Given the description of an element on the screen output the (x, y) to click on. 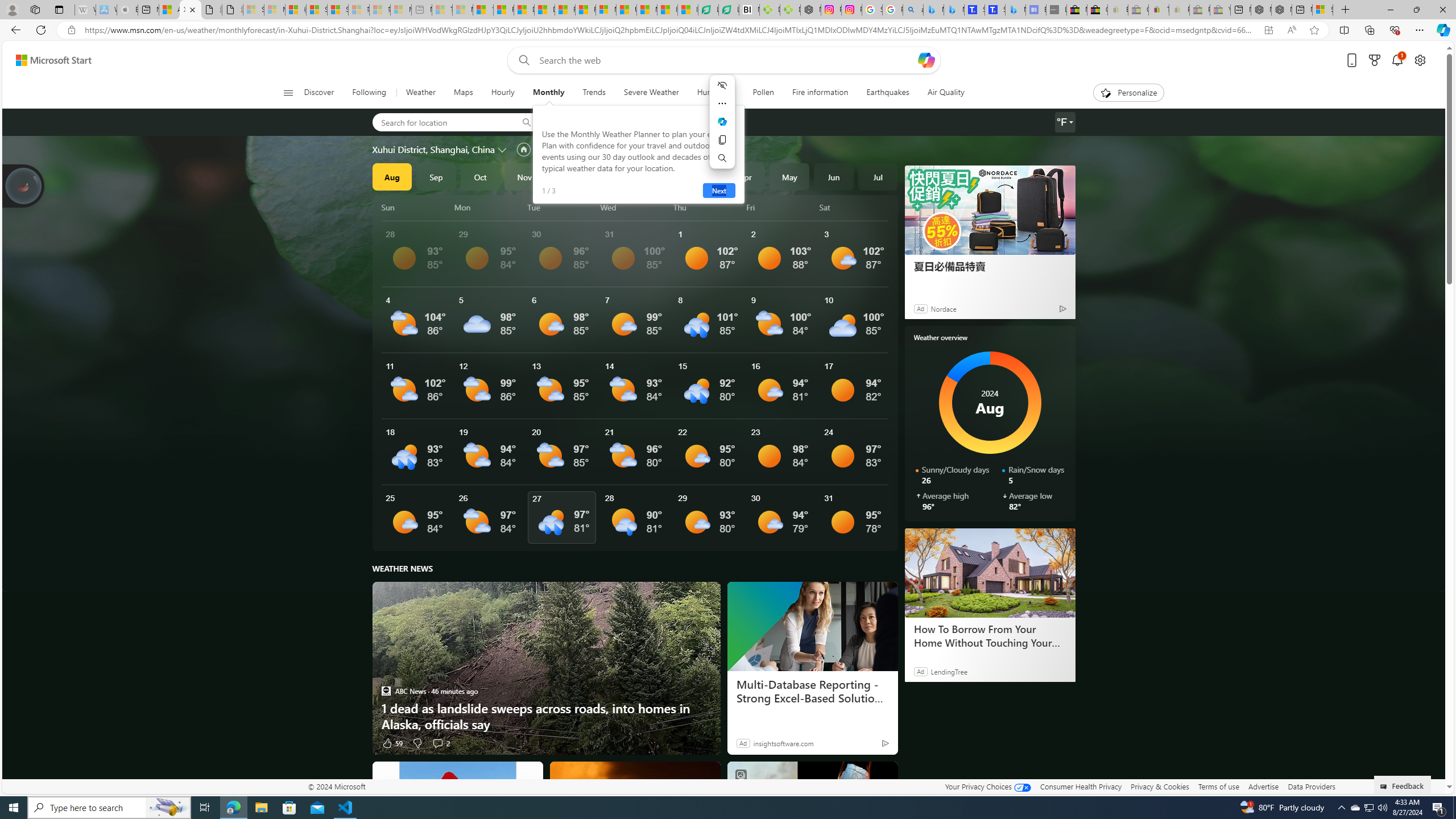
Sun (416, 207)
Privacy & Cookies (1160, 786)
Pollen (763, 92)
New tab - Sleeping (421, 9)
2025Jan (612, 176)
Sep (435, 176)
Join us in planting real trees to help our planet! (23, 184)
